Given the description of an element on the screen output the (x, y) to click on. 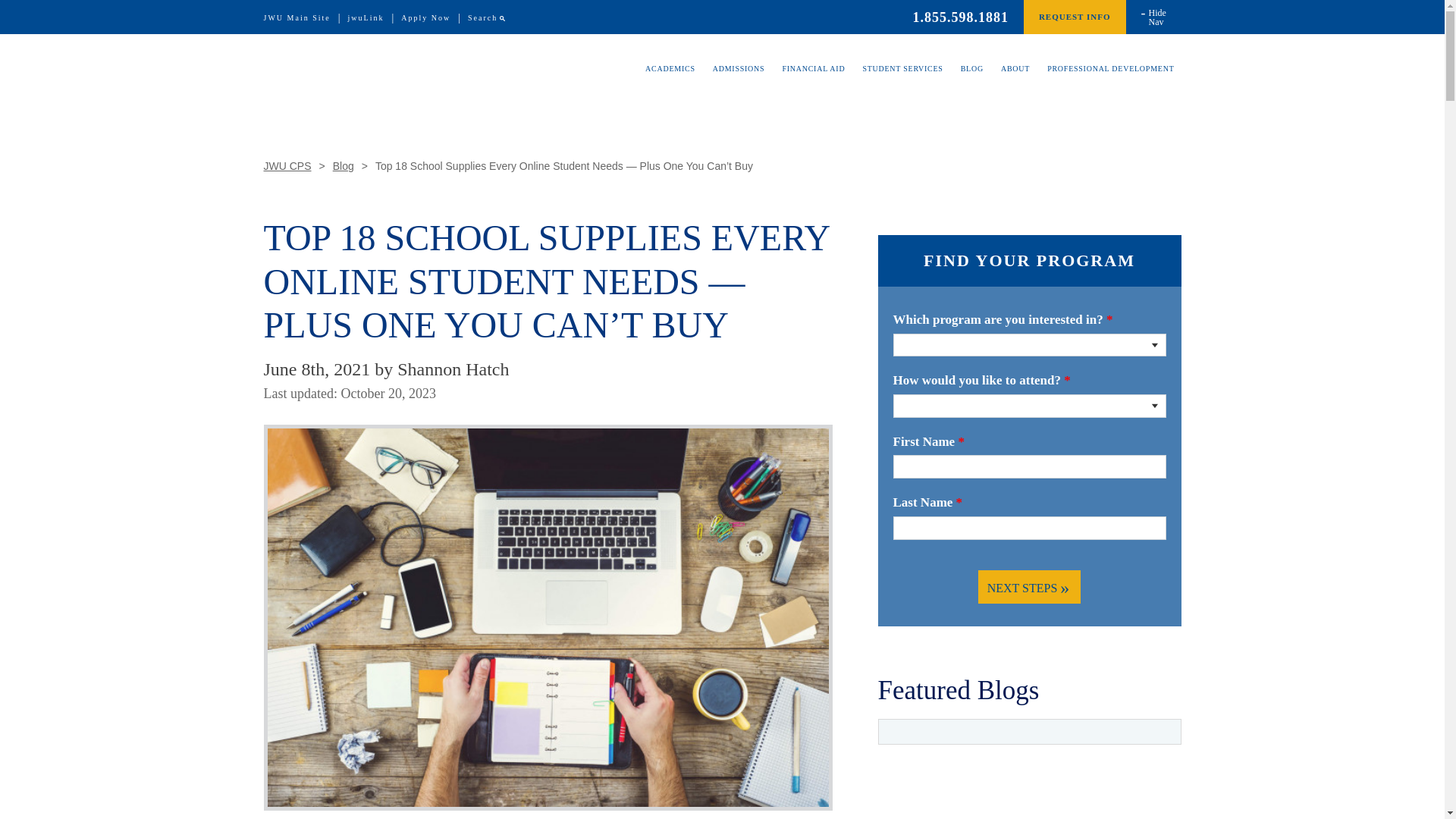
JWU Main Site (296, 17)
ADMISSIONS (738, 80)
Program (1029, 344)
Call us today. (960, 17)
Location (1029, 406)
First Name (1029, 467)
Apply Now (425, 17)
Last Name (1029, 527)
1.855.598.1881 (960, 17)
jwuLink (365, 17)
REQUEST INFO (1074, 17)
ACADEMICS (670, 80)
JWU College of Professional Studies (381, 67)
Search (482, 17)
